Given the description of an element on the screen output the (x, y) to click on. 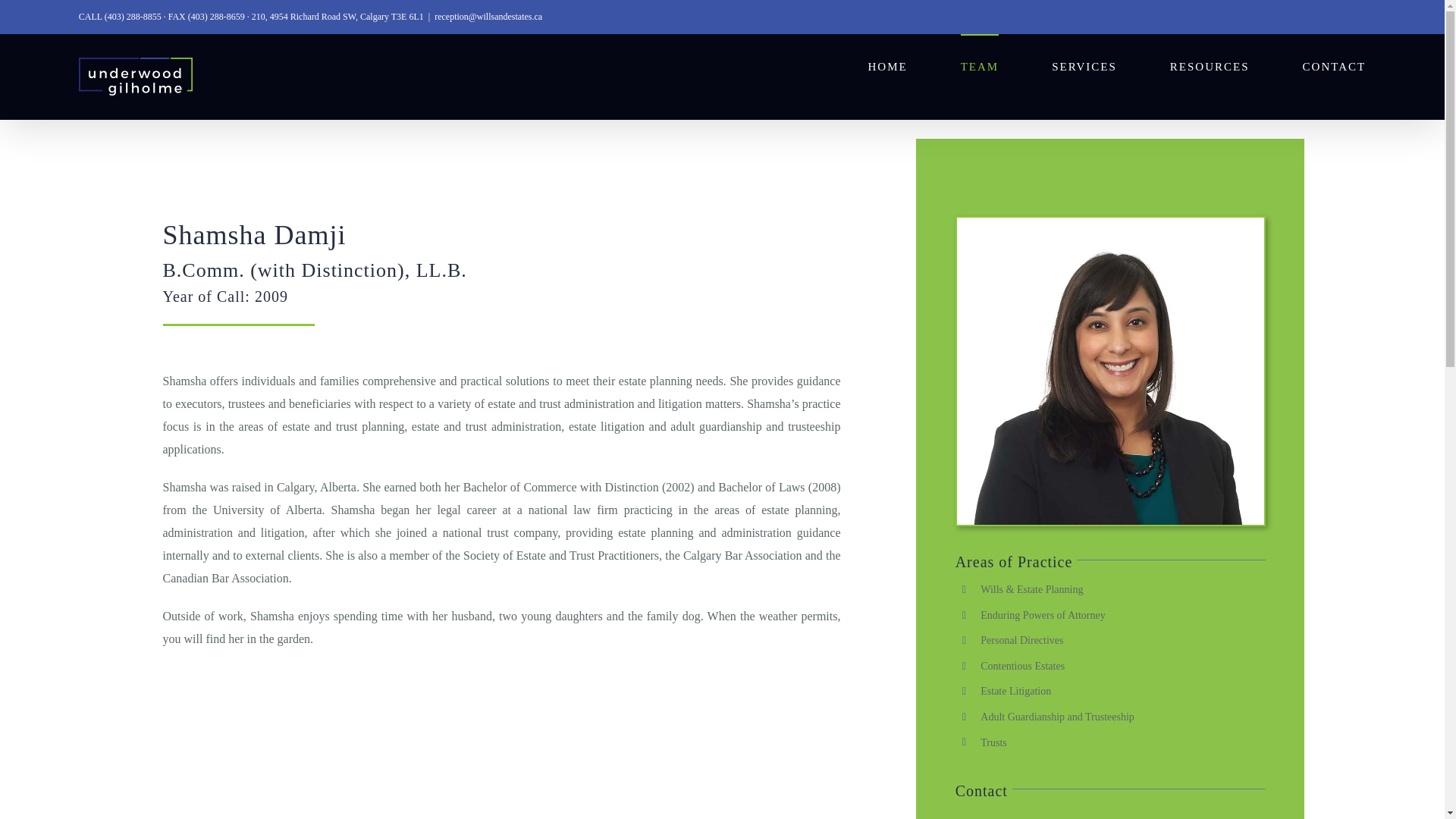
CONTACT (1335, 65)
SERVICES (1083, 65)
RESOURCES (1209, 65)
